Given the description of an element on the screen output the (x, y) to click on. 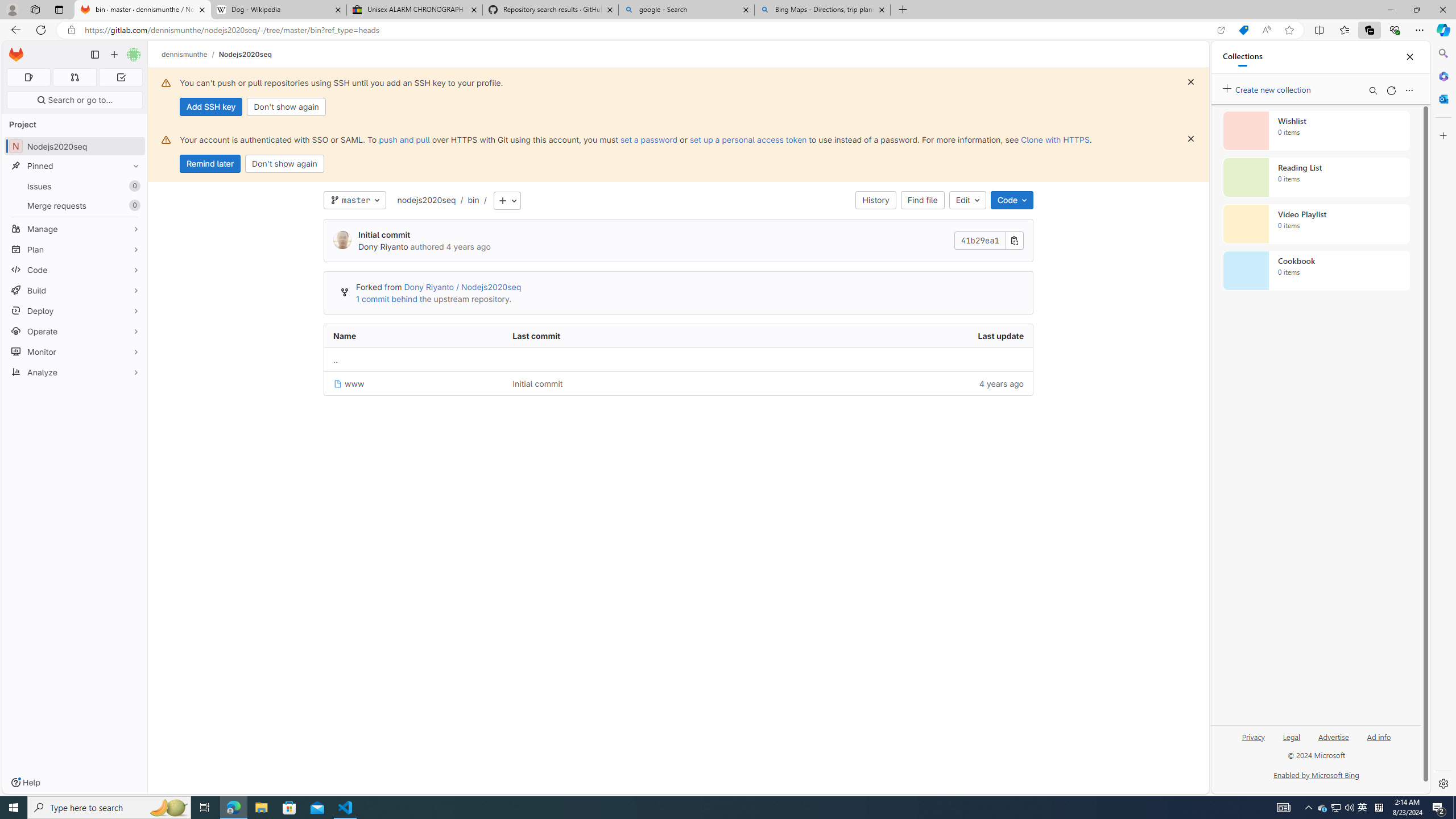
Build (74, 289)
Last commit (627, 336)
Video Playlist collection, 0 items (1316, 223)
Merge requests0 (74, 205)
4 years ago (892, 383)
Don't show again (284, 163)
